Given the description of an element on the screen output the (x, y) to click on. 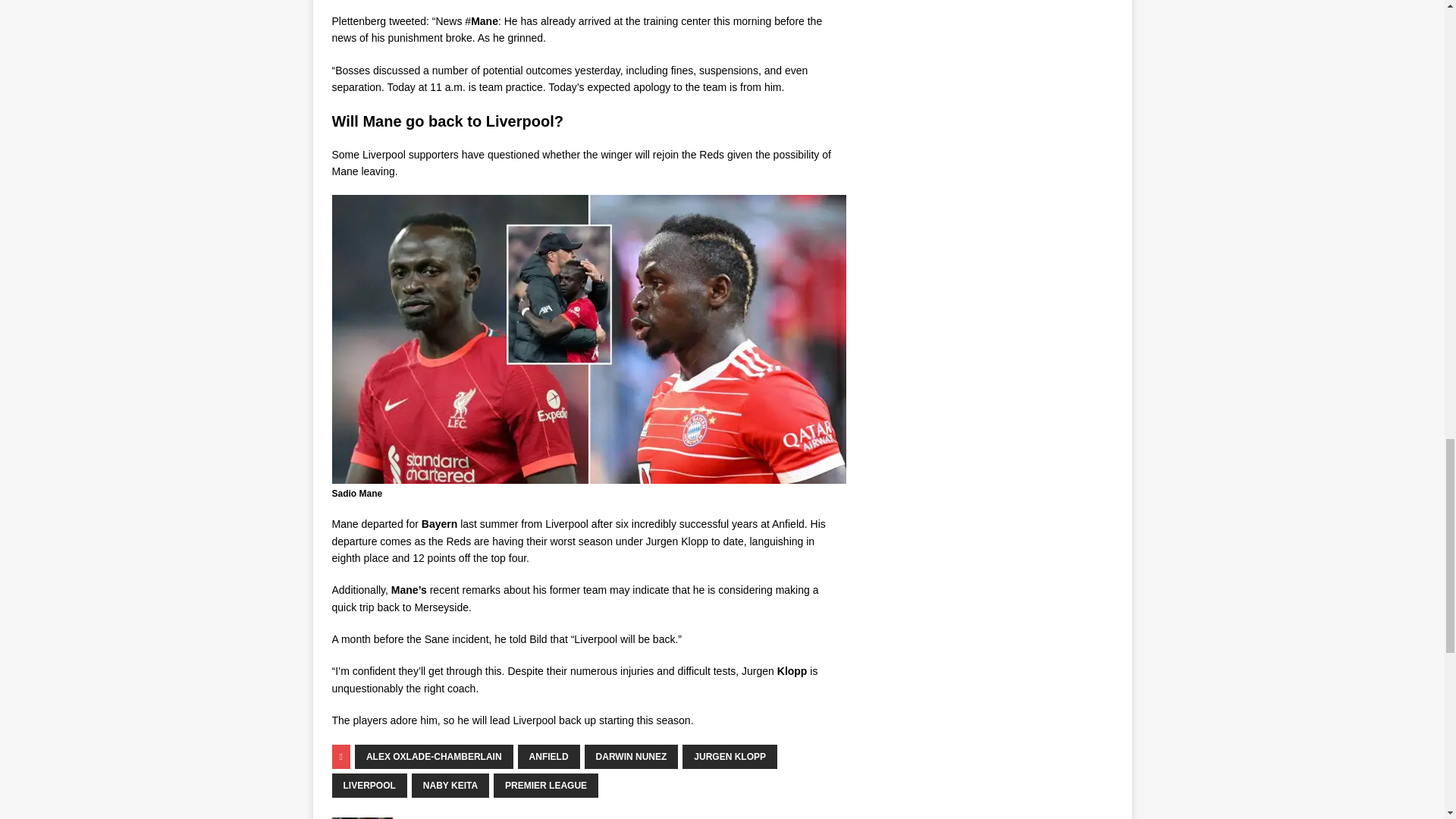
JURGEN KLOPP (729, 756)
LIVERPOOL (369, 785)
NABY KEITA (450, 785)
ALEX OXLADE-CHAMBERLAIN (434, 756)
ANFIELD (548, 756)
PREMIER LEAGUE (545, 785)
DARWIN NUNEZ (631, 756)
